Given the description of an element on the screen output the (x, y) to click on. 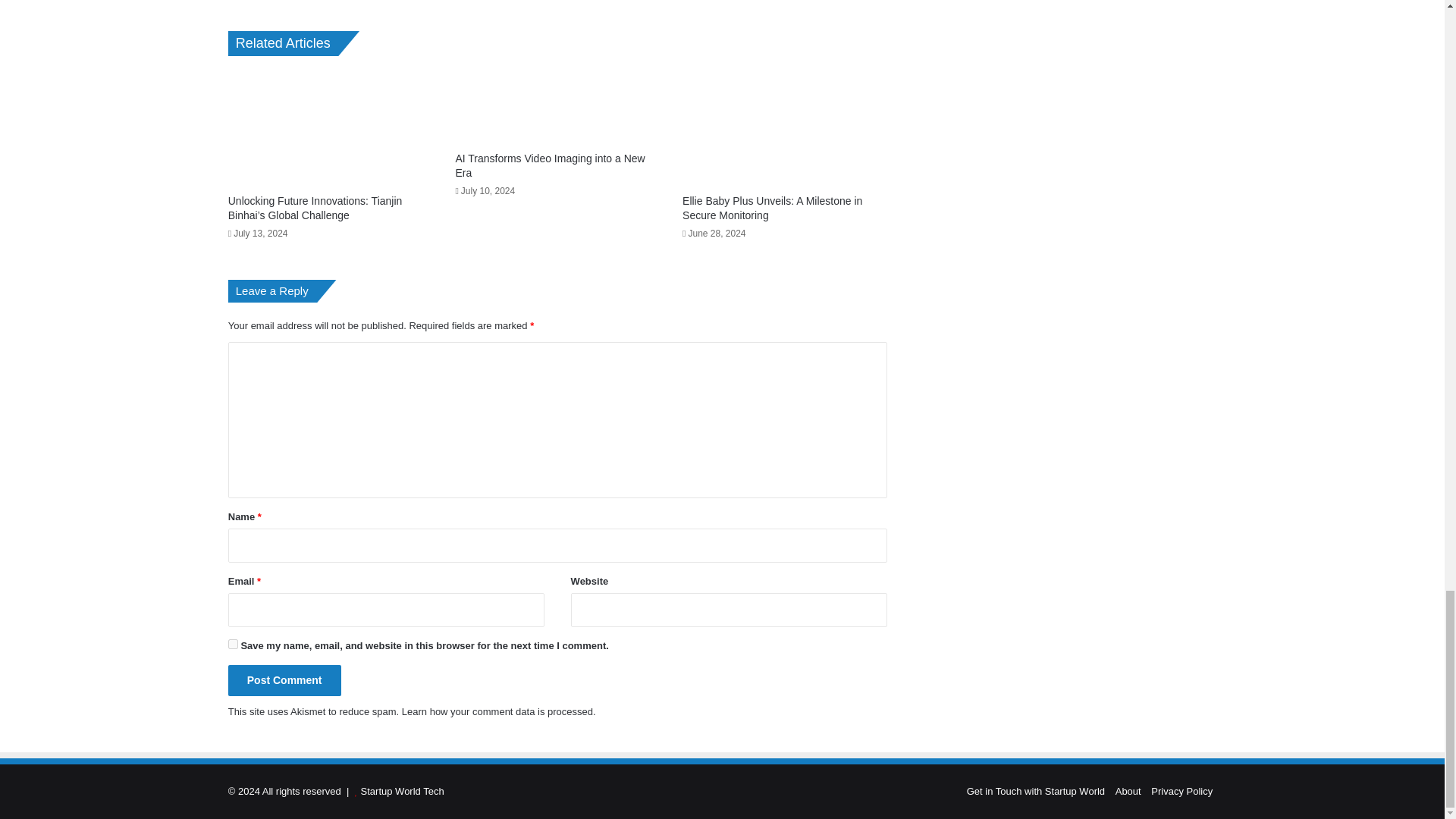
yes (233, 644)
Post Comment (284, 680)
